Given the description of an element on the screen output the (x, y) to click on. 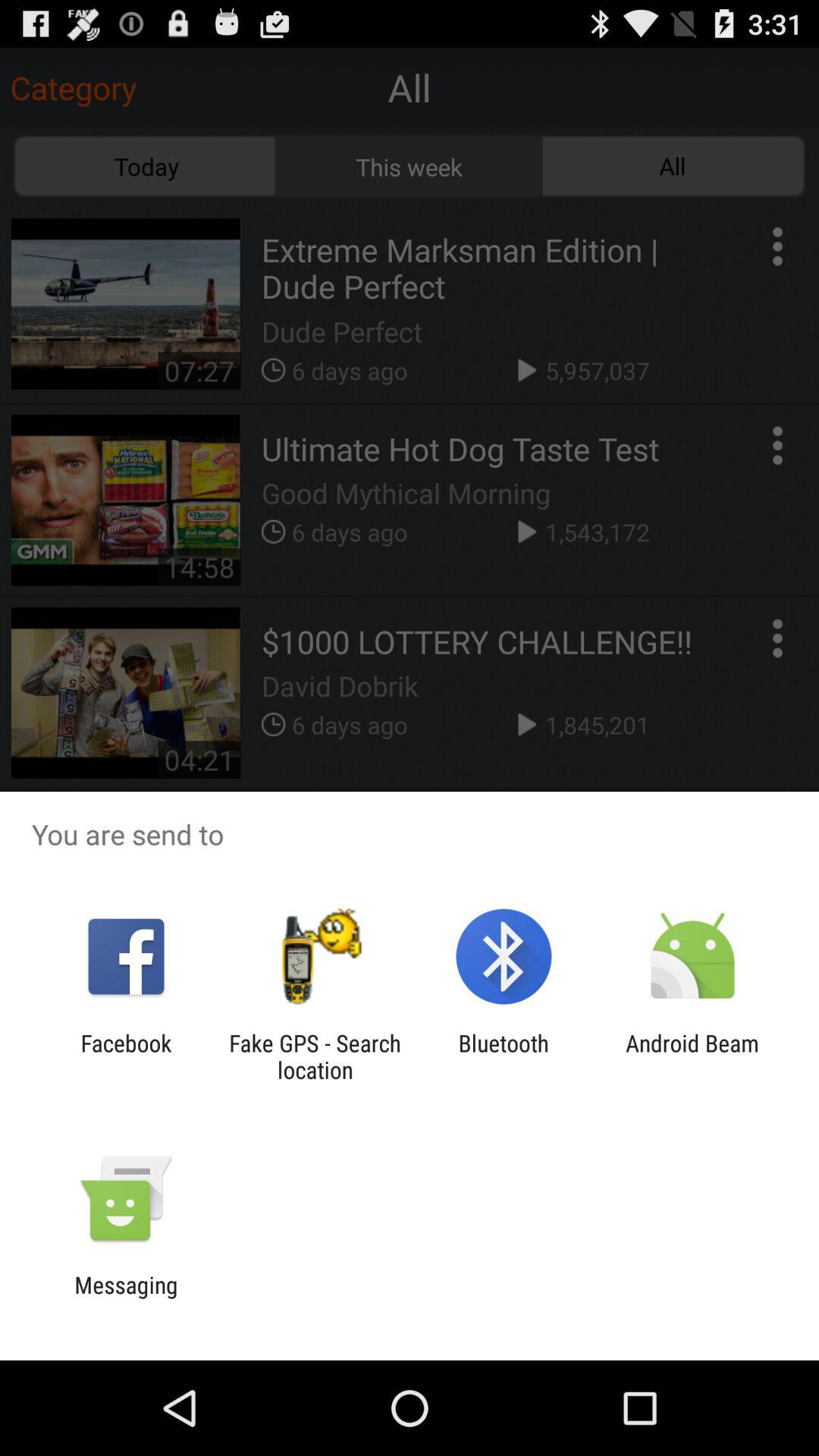
flip until the android beam (692, 1056)
